Given the description of an element on the screen output the (x, y) to click on. 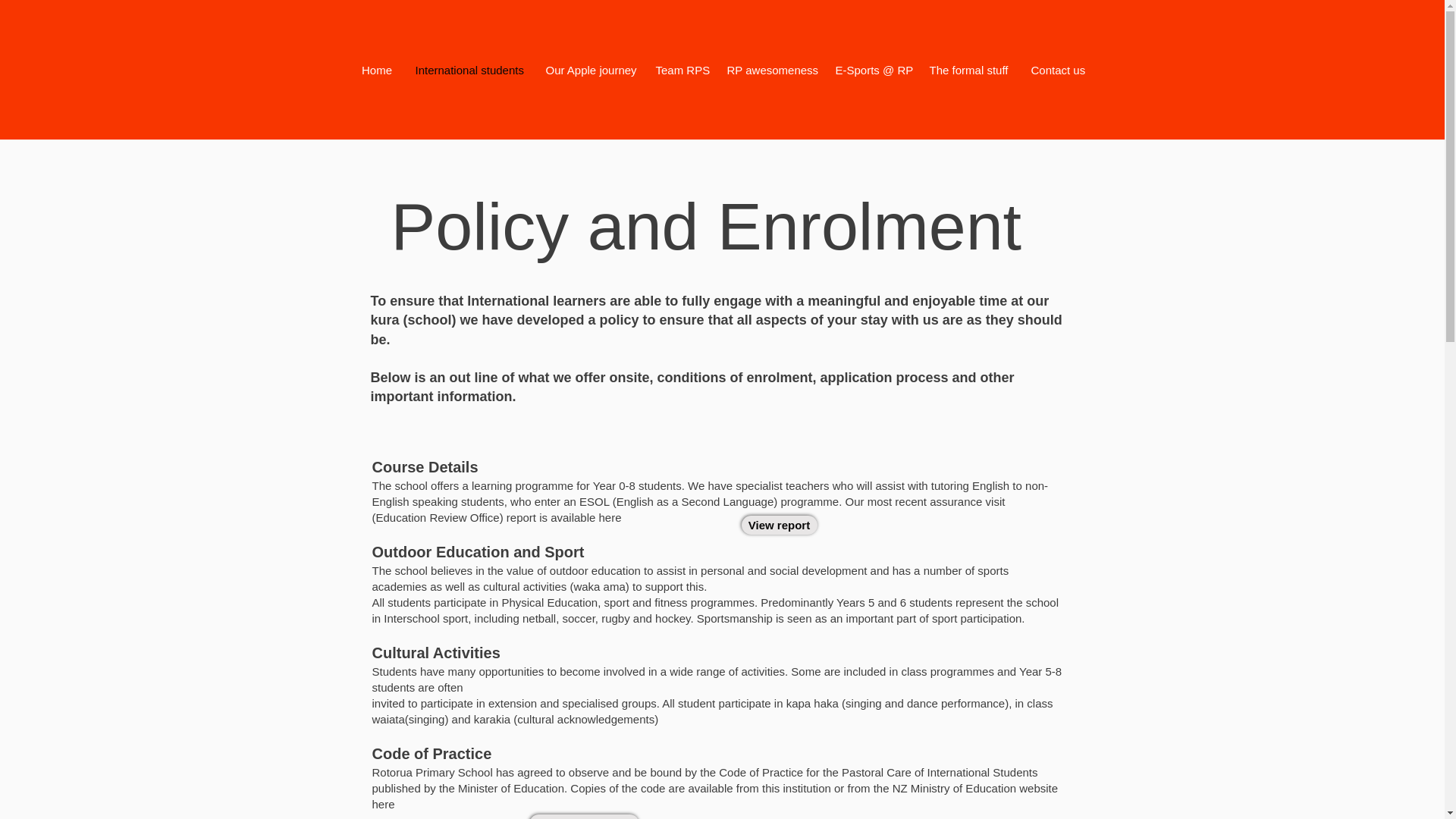
Team RPS (680, 70)
Our Apple journey (588, 70)
International students (468, 70)
Home (377, 70)
